Given the description of an element on the screen output the (x, y) to click on. 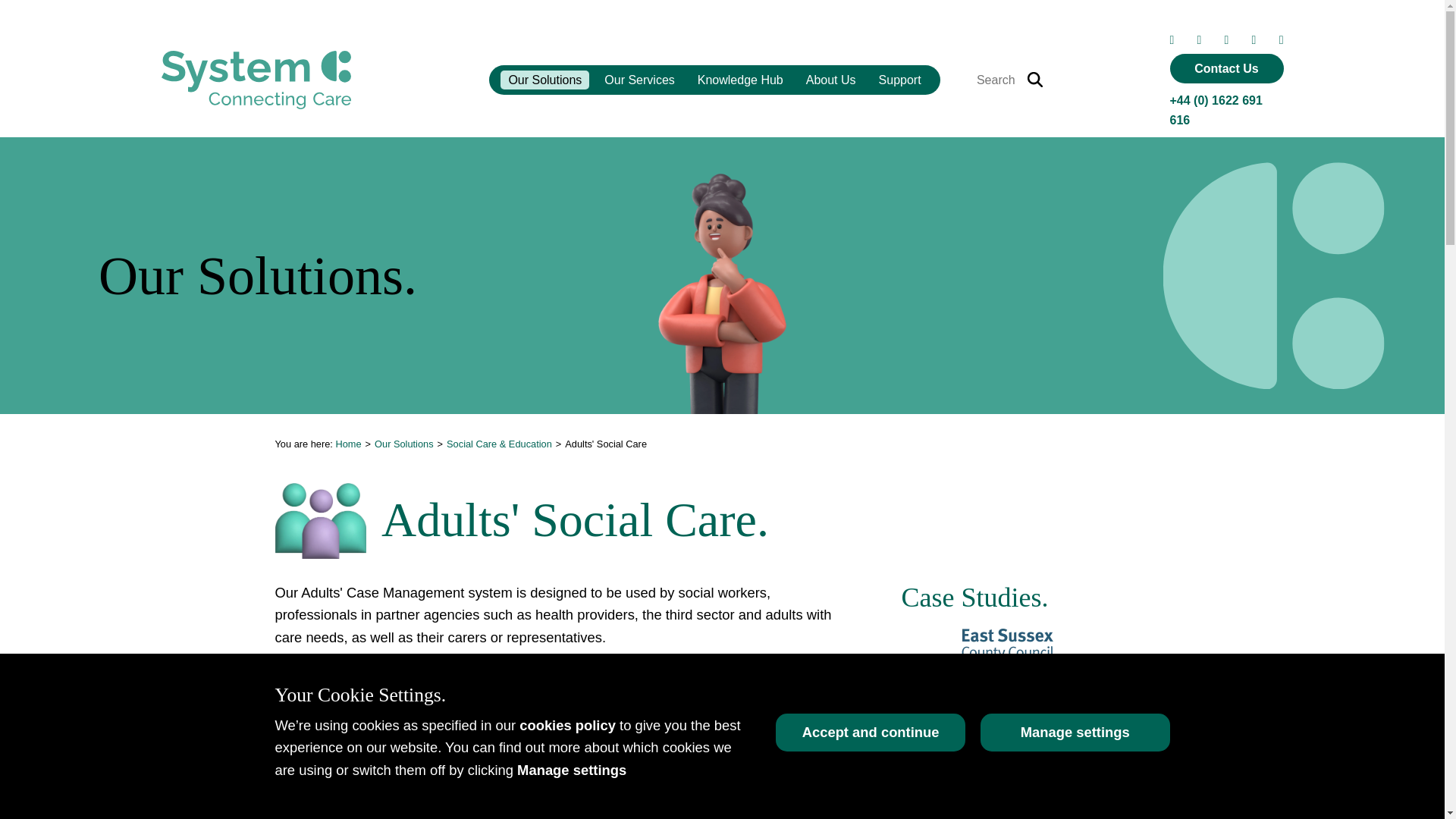
Our Services (638, 80)
Our Solutions (544, 80)
